Given the description of an element on the screen output the (x, y) to click on. 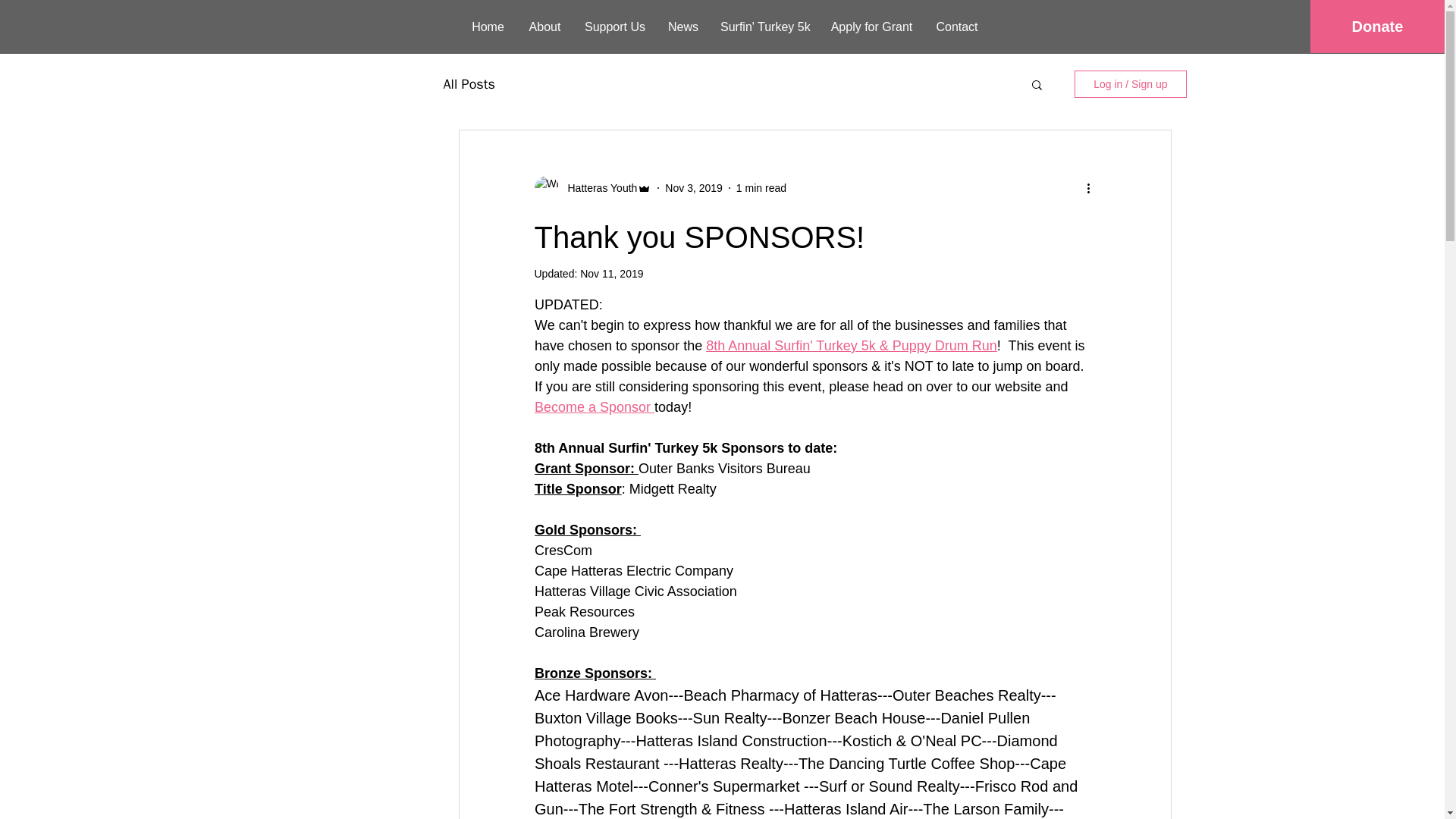
Home (488, 26)
Support Us (614, 26)
Hatteras Youth (597, 188)
News (682, 26)
Nov 11, 2019 (611, 273)
Nov 3, 2019 (693, 187)
Contact (957, 26)
About (544, 26)
1 min read (761, 187)
Become a Sponsor  (593, 406)
